Given the description of an element on the screen output the (x, y) to click on. 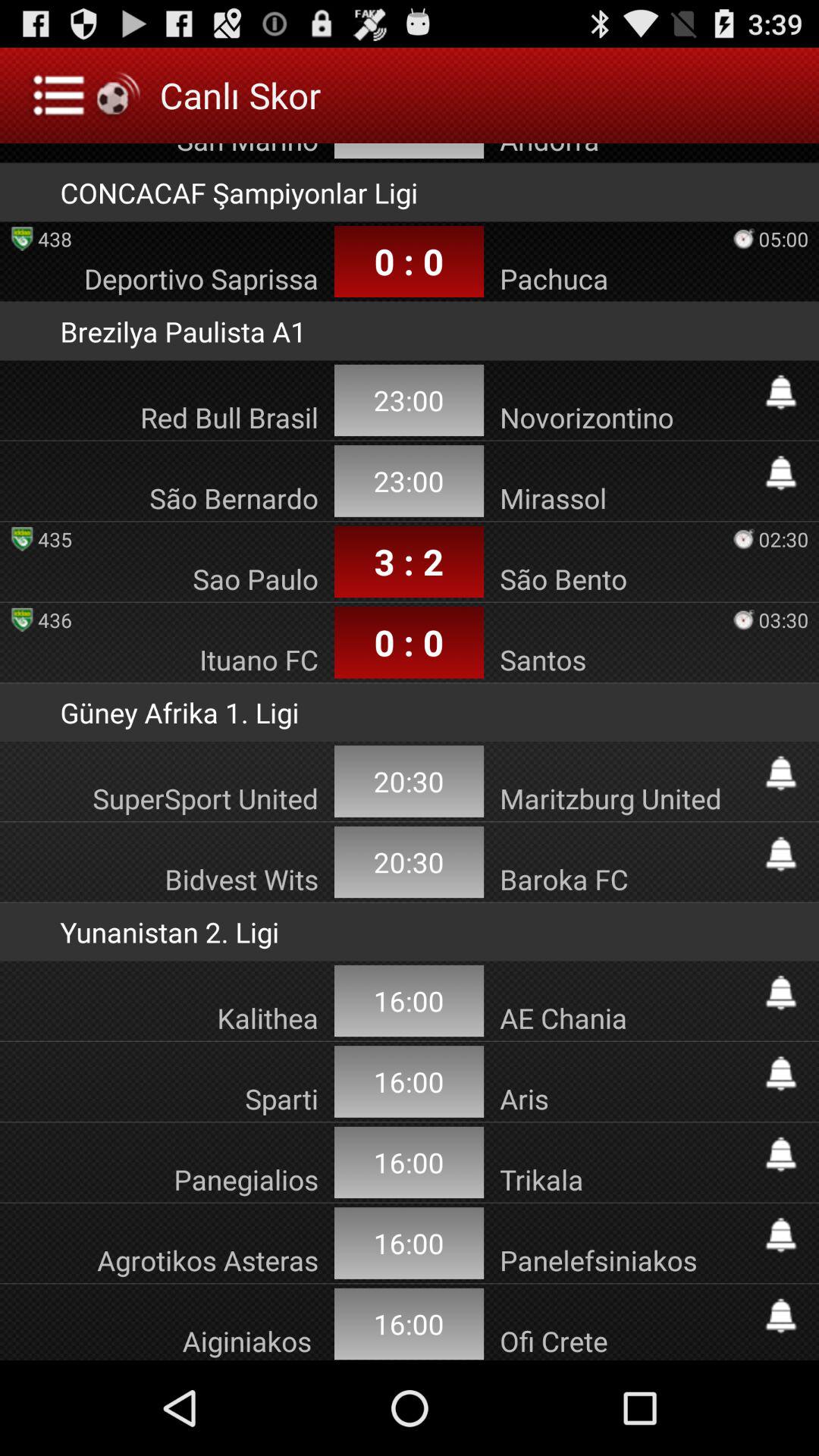
turn on notification (780, 392)
